Given the description of an element on the screen output the (x, y) to click on. 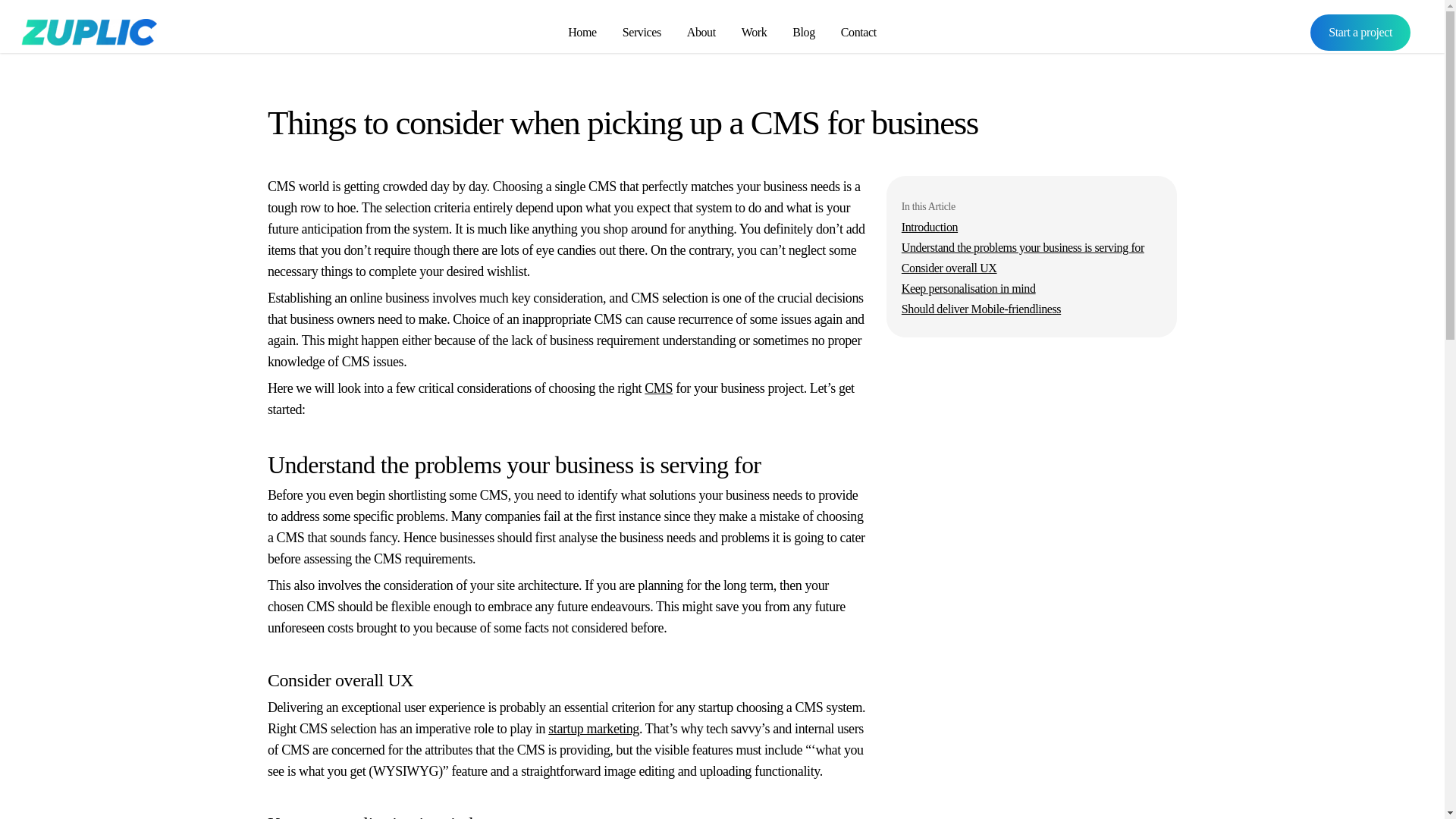
Contact (858, 31)
Introduction (929, 226)
About (701, 31)
Understand the problems your business is serving for (1022, 246)
CMS (658, 387)
Blog (803, 31)
Home (581, 31)
Services (642, 31)
Work (754, 31)
Start a project (1360, 31)
startup marketing (593, 728)
Consider overall UX (949, 267)
Keep personalisation in mind (968, 287)
Should deliver Mobile-friendliness (981, 308)
